Given the description of an element on the screen output the (x, y) to click on. 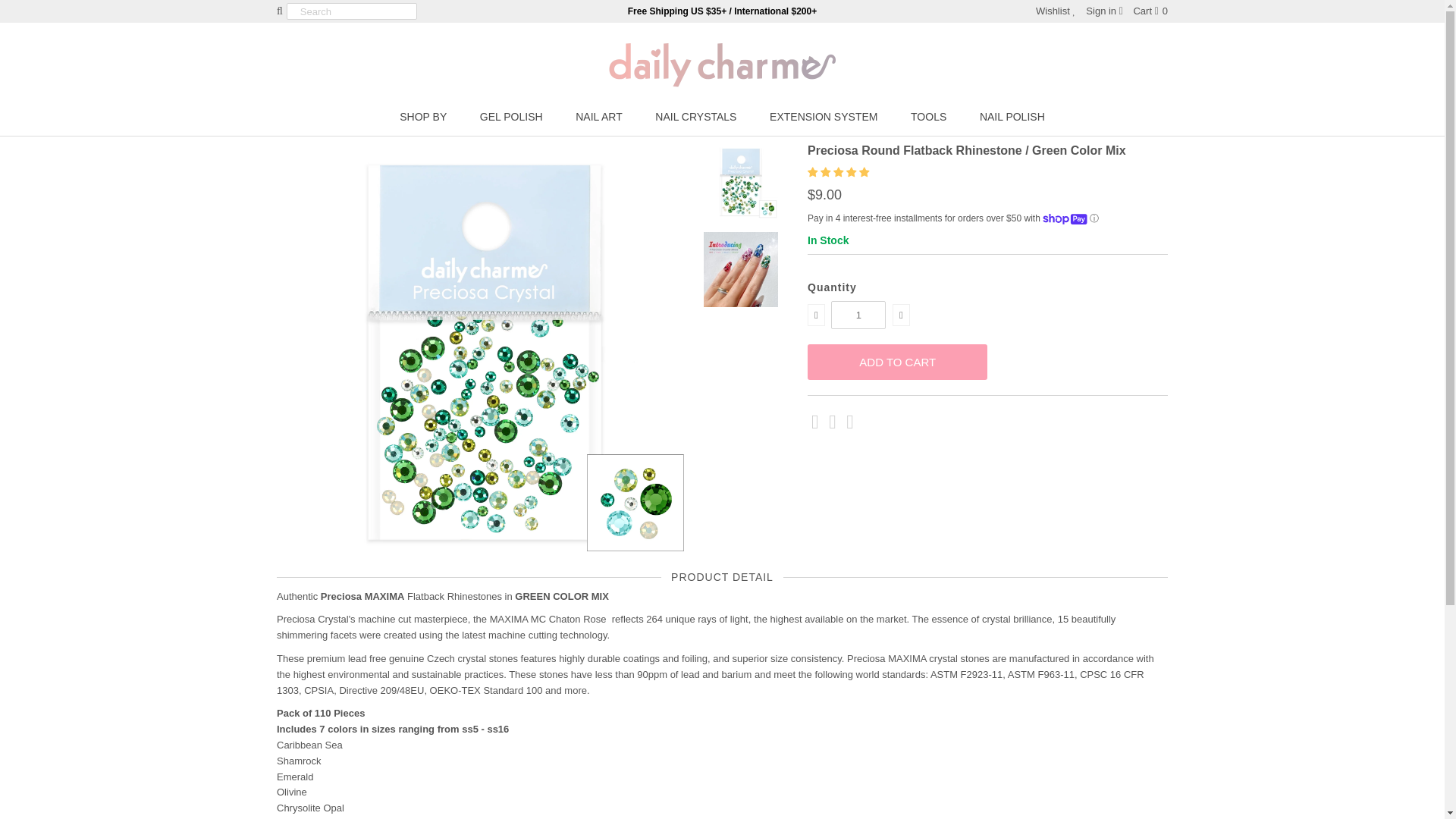
1 (858, 315)
Add to Cart (897, 361)
Wishlist (1055, 10)
Sign in (1104, 10)
Cart 0 (1149, 10)
